Given the description of an element on the screen output the (x, y) to click on. 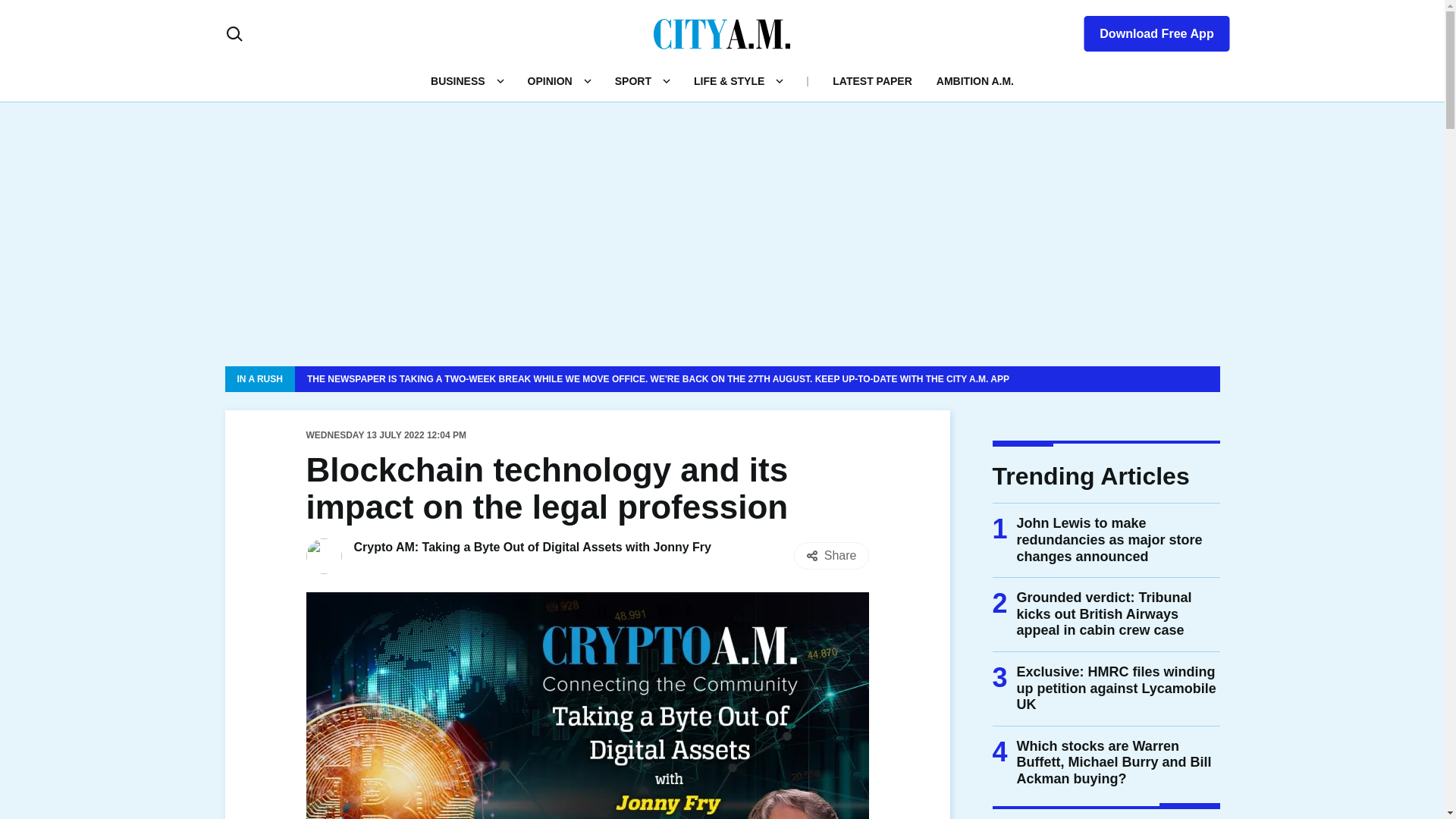
CityAM (721, 33)
Download Free App (1146, 30)
SPORT (632, 80)
OPINION (549, 80)
BUSINESS (457, 80)
